Given the description of an element on the screen output the (x, y) to click on. 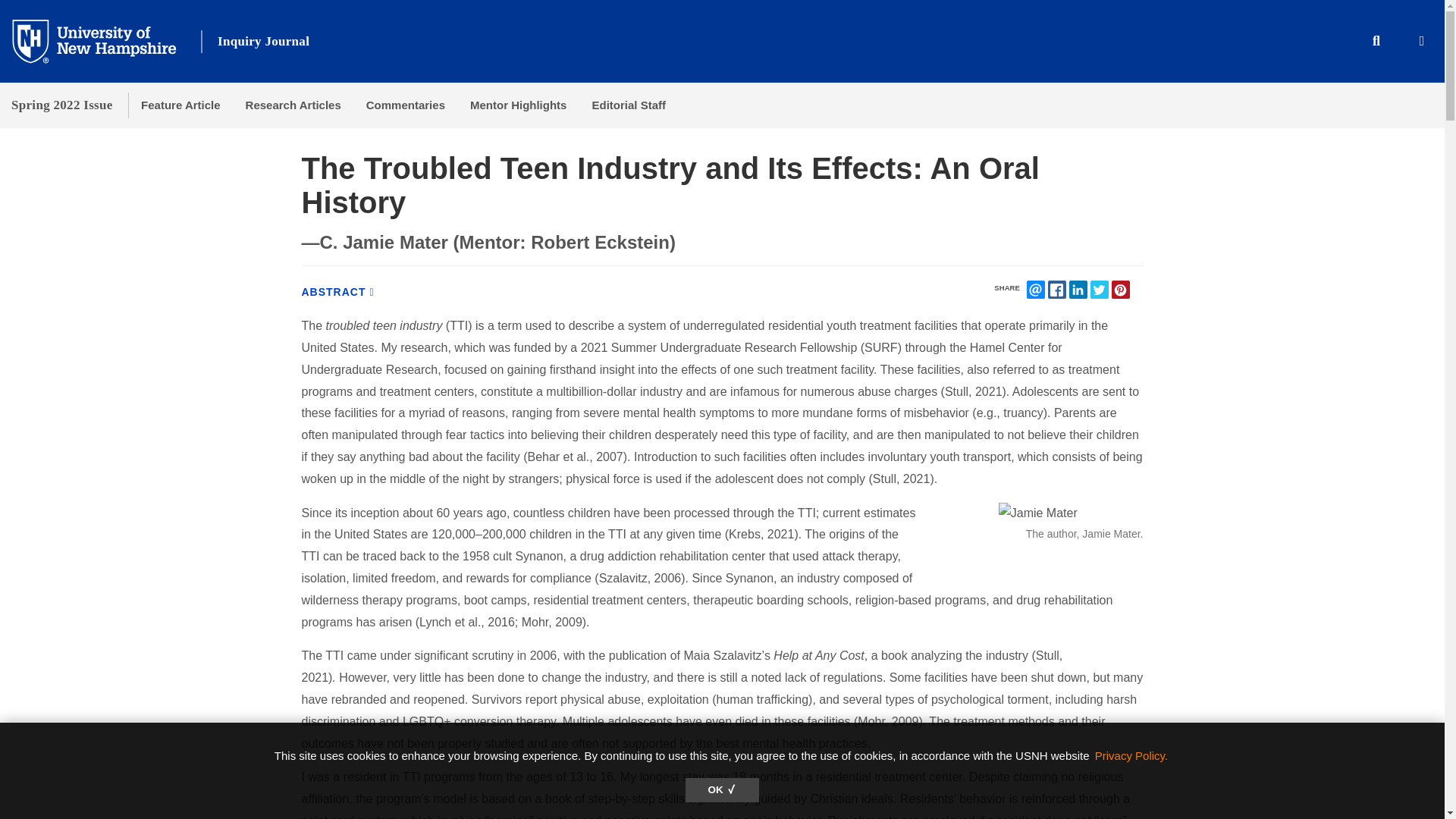
Spring 2022 Issue (62, 104)
LINKEDIN (1077, 289)
Commentaries (405, 104)
Editorial Staff (628, 104)
Mentor Highlights (518, 104)
TWITTER (1099, 289)
PINTEREST (1120, 289)
Inquiry Journal (262, 41)
Research Articles (292, 104)
Privacy Policy. (1131, 755)
ABSTRACT (337, 291)
Feature Article (180, 104)
EMAIL (1035, 289)
The Troubled Teen Industry and Its Effects: An Oral History (337, 291)
University of New Hampshire (105, 40)
